Given the description of an element on the screen output the (x, y) to click on. 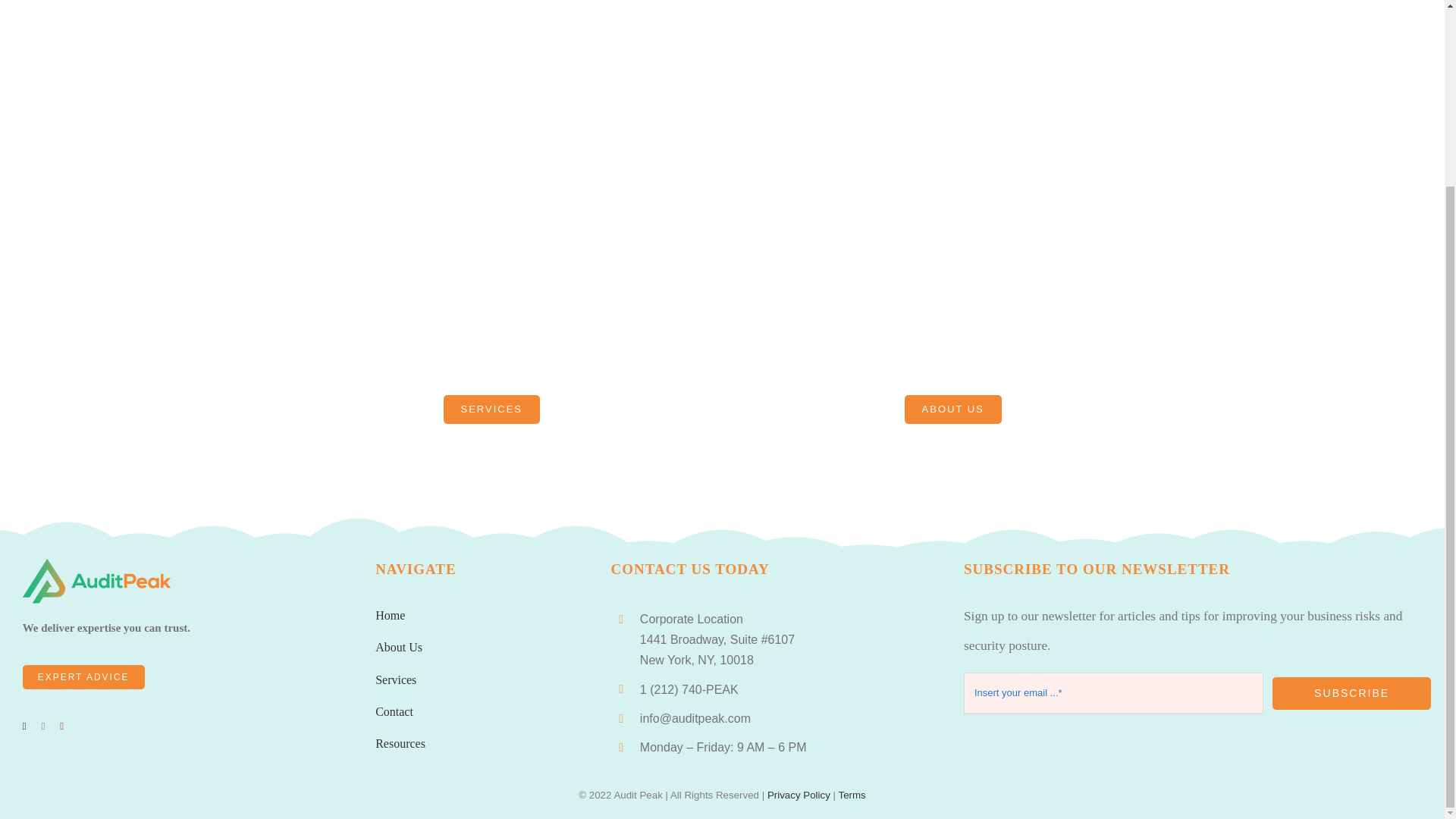
Resources (400, 743)
Services (395, 679)
Contact (394, 711)
Terms (851, 794)
SERVICES (492, 409)
About Us (398, 646)
ABOUT US (952, 409)
SUBSCRIBE (1351, 693)
